Given the description of an element on the screen output the (x, y) to click on. 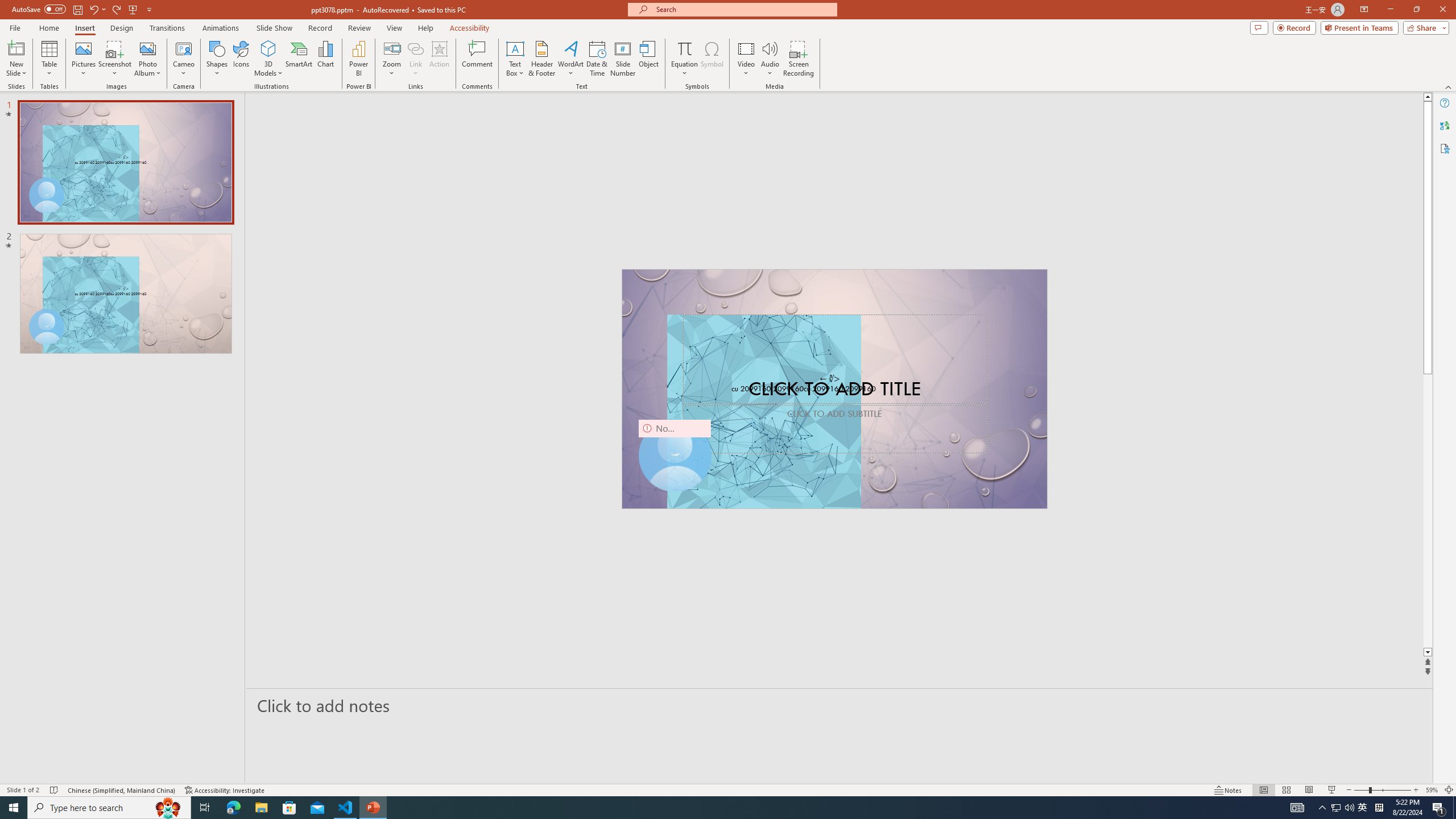
Header & Footer... (541, 58)
Draw Horizontal Text Box (515, 48)
Pictures (83, 58)
Date & Time... (596, 58)
